Given the description of an element on the screen output the (x, y) to click on. 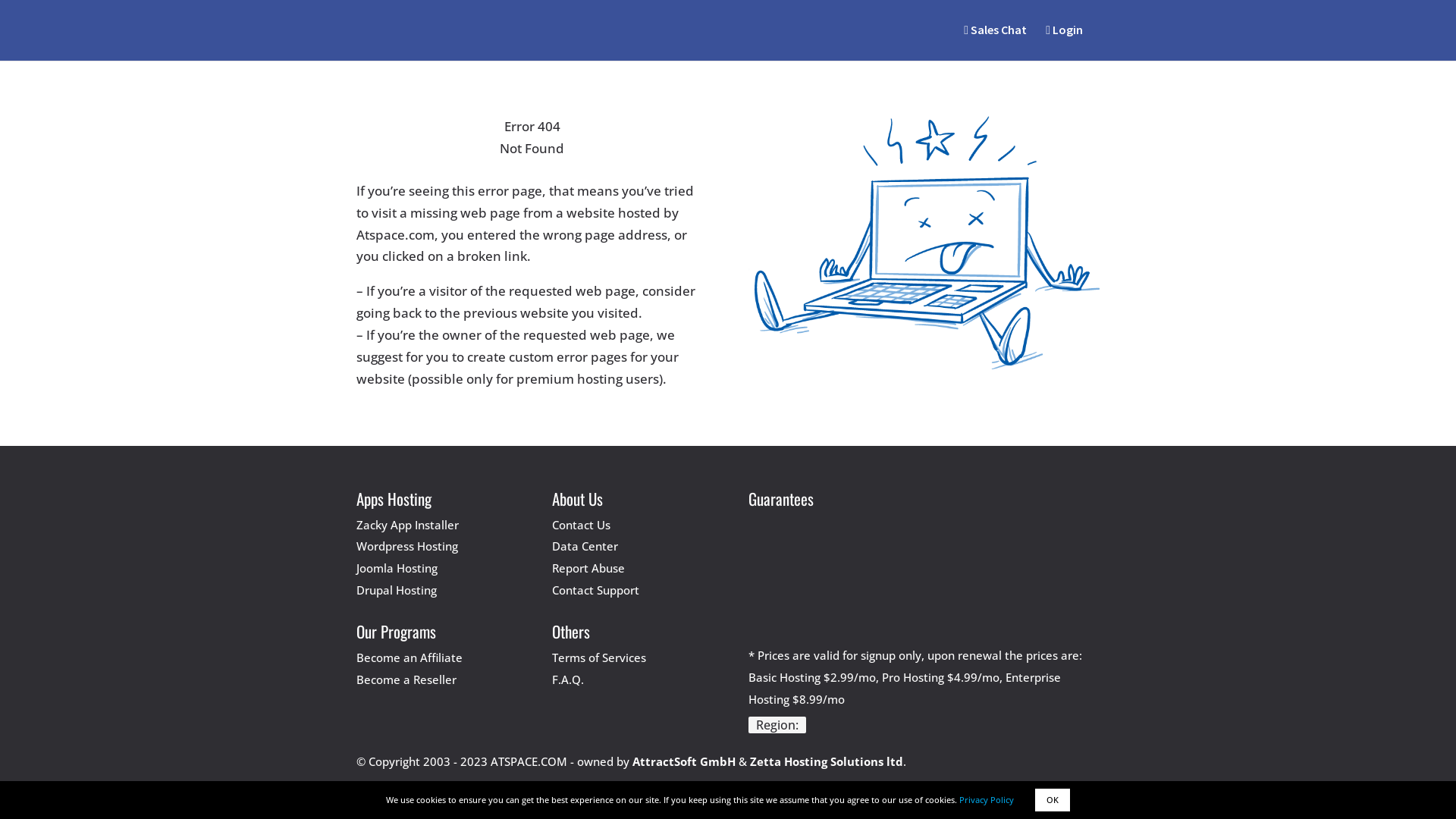
Report Abuse Element type: text (588, 567)
Data Center Element type: text (585, 545)
Zetta Hosting Solutions ltd Element type: text (826, 760)
Home Element type: text (370, 91)
OK Element type: text (1052, 799)
AttractSoft GmbH Element type: text (683, 760)
Resellers Element type: text (693, 91)
Domains Element type: text (528, 91)
Sales Chat Element type: text (994, 42)
Login Element type: text (1063, 42)
Contact Us Element type: text (581, 524)
Privacy Policy Element type: text (986, 799)
SSL Certificates Element type: text (614, 91)
F.A.Q. Element type: text (567, 679)
Contact Support Element type: text (595, 589)
Zacky App Installer Element type: text (407, 524)
Drupal Hosting Element type: text (396, 589)
Become a Reseller Element type: text (406, 679)
Joomla Hosting Element type: text (396, 567)
Become an Affiliate Element type: text (409, 657)
Terms of Services Element type: text (599, 657)
About Element type: text (831, 91)
Web Hosting Element type: text (442, 91)
Affiliates Element type: text (762, 91)
Sales Chat Element type: text (994, 29)
Wordpress Hosting Element type: text (407, 545)
